Given the description of an element on the screen output the (x, y) to click on. 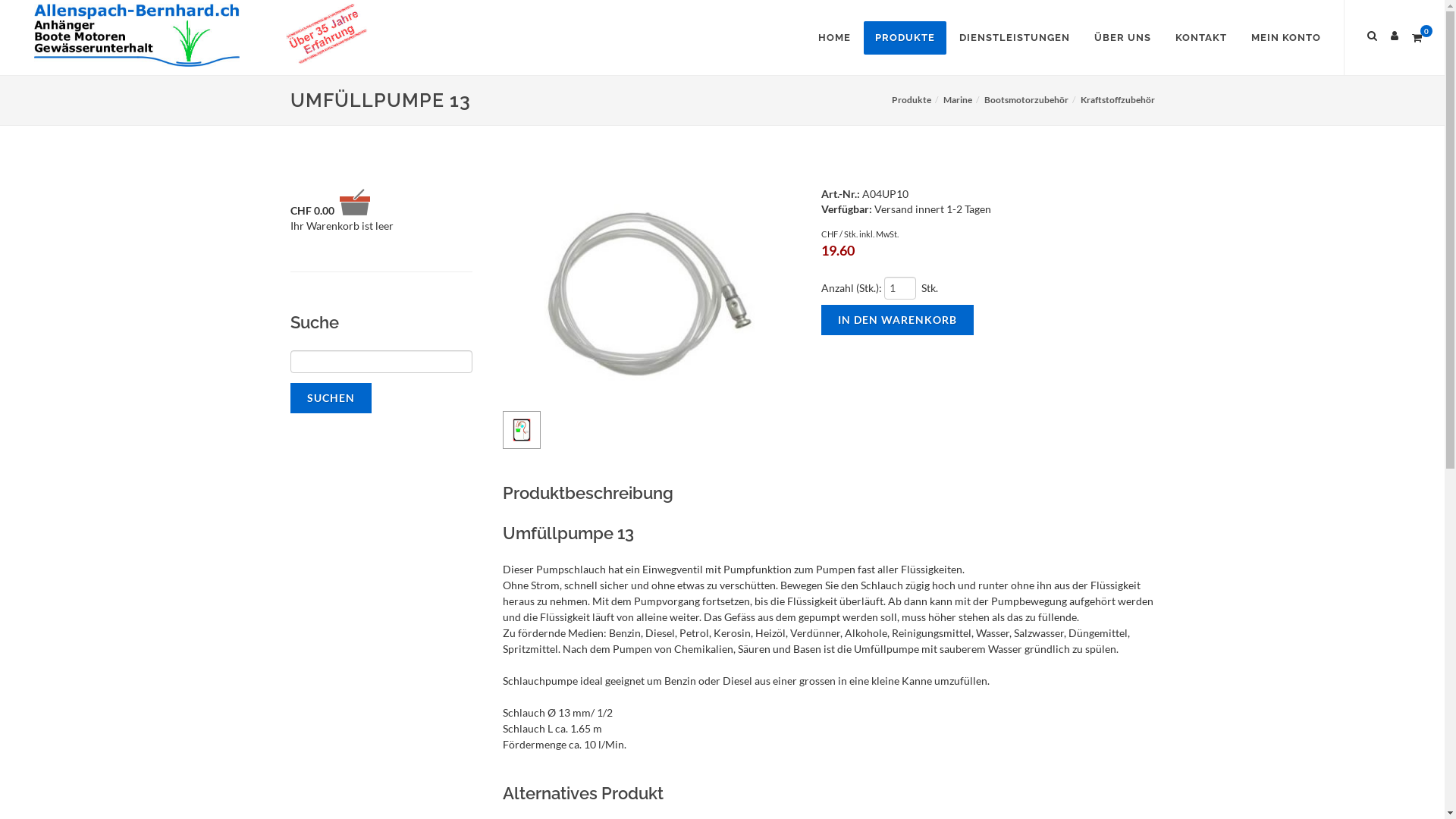
DIENSTLEISTUNGEN Element type: text (1014, 37)
MEIN KONTO Element type: text (1285, 37)
HOME Element type: text (834, 37)
0 Element type: text (1416, 35)
Home Element type: hover (136, 34)
35 Jahre Erfahrung Element type: hover (326, 33)
Suchen Element type: text (329, 397)
Produkte Element type: text (911, 99)
Marine Element type: text (957, 99)
KONTAKT Element type: text (1201, 37)
In den Warenkorb Element type: text (897, 319)
PRODUKTE Element type: text (904, 37)
